Given the description of an element on the screen output the (x, y) to click on. 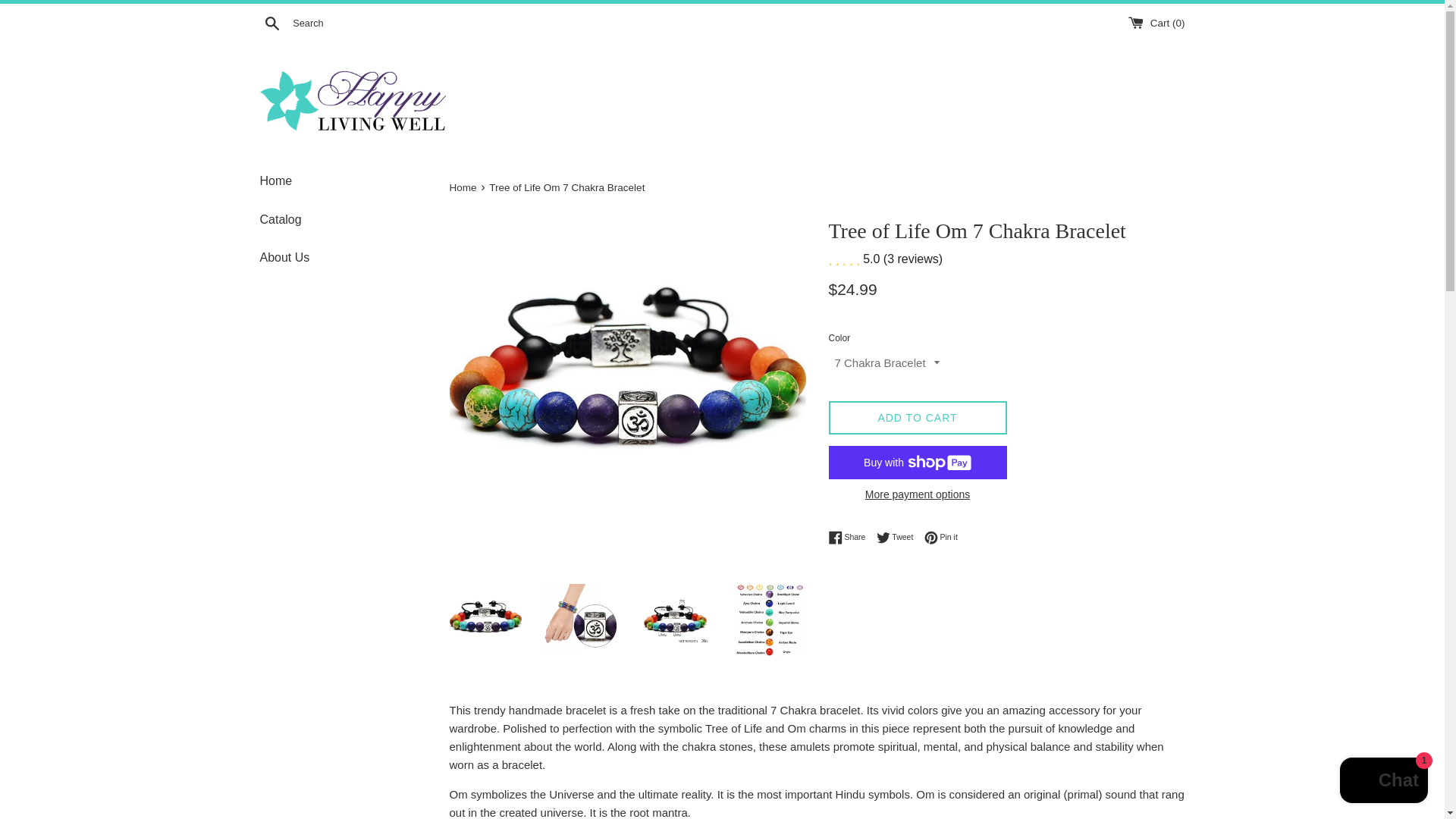
Shopify online store chat (1383, 781)
Home (342, 180)
Share on Facebook (850, 537)
Home (850, 537)
About Us (463, 187)
Search (342, 257)
More payment options (271, 21)
Back to the frontpage (917, 494)
Pin on Pinterest (463, 187)
Tweet on Twitter (941, 537)
ADD TO CART (898, 537)
Catalog (941, 537)
